Given the description of an element on the screen output the (x, y) to click on. 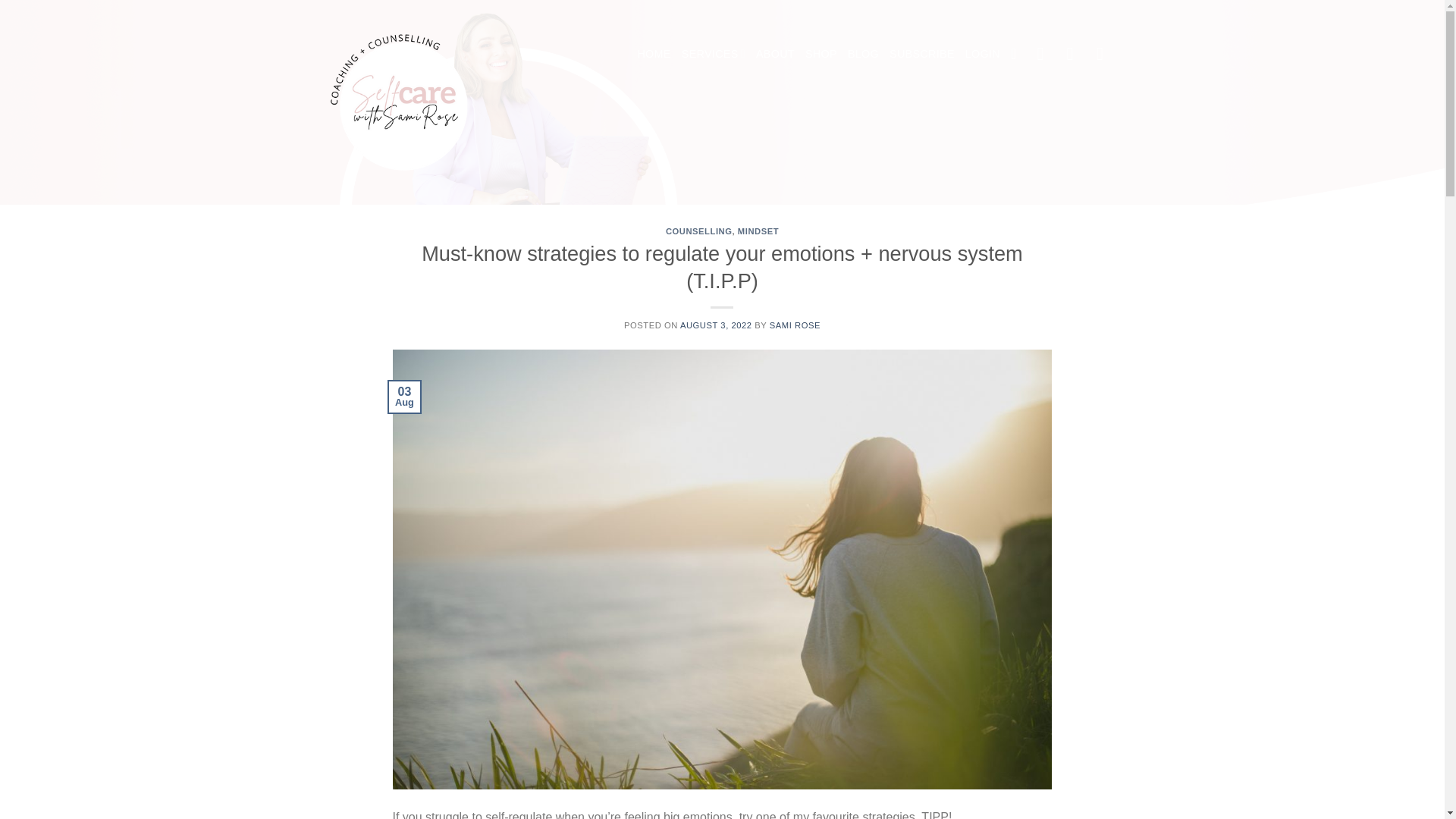
ABOUT (774, 53)
SAMI ROSE (795, 325)
AUGUST 3, 2022 (715, 325)
SUBSCRIBE (922, 53)
LOGIN (982, 53)
COUNSELLING (698, 230)
Cart (1018, 53)
HOME (653, 53)
BLOG (863, 53)
MINDSET (758, 230)
SERVICES (713, 52)
SHOP (821, 53)
